Given the description of an element on the screen output the (x, y) to click on. 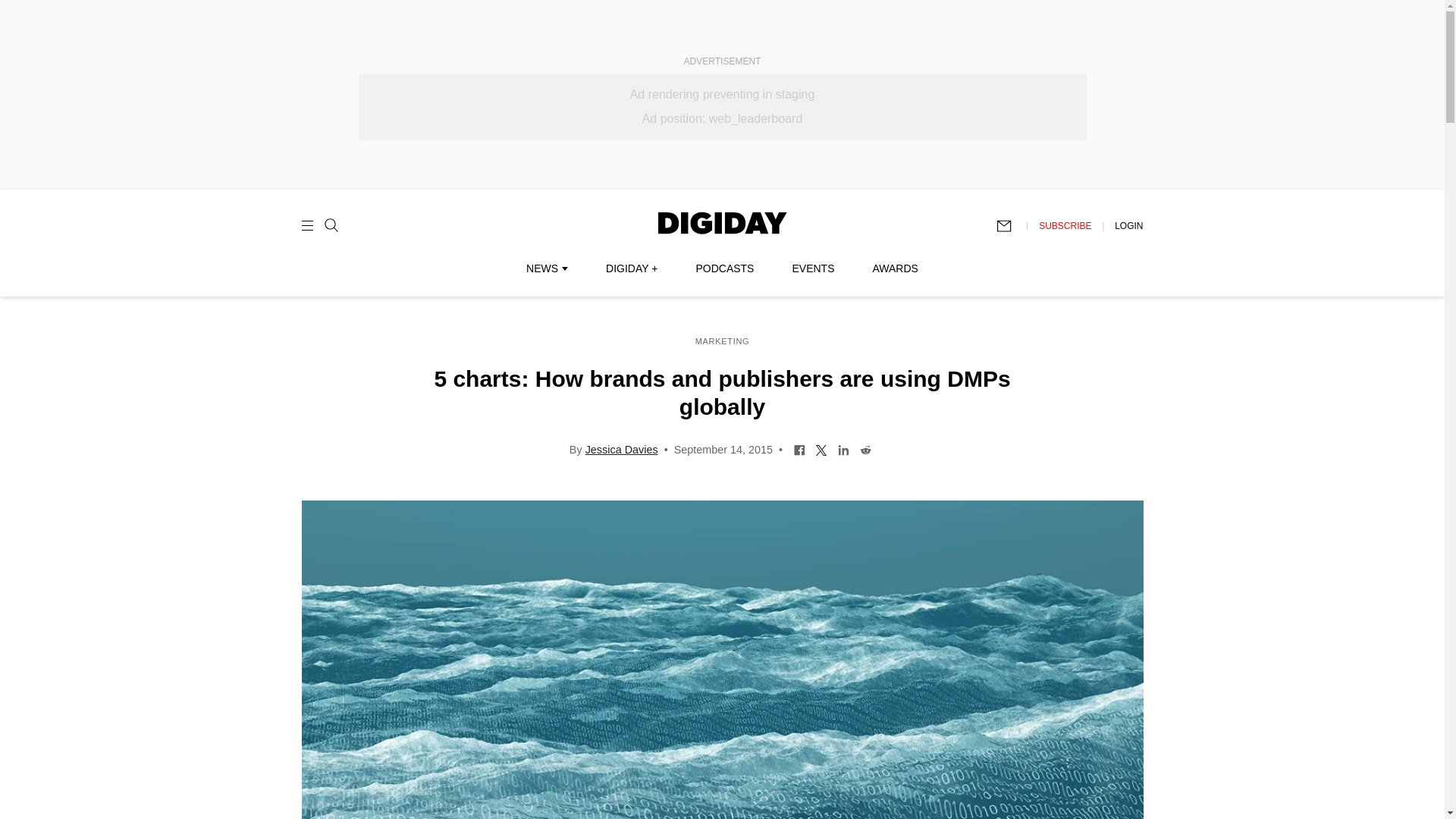
LOGIN (1128, 225)
AWARDS (894, 267)
NEWS (546, 267)
PODCASTS (725, 267)
Share on Reddit (865, 449)
Share on Twitter (821, 449)
Share on Facebook (799, 449)
Share on LinkedIn (843, 449)
Subscribe (1010, 225)
EVENTS (813, 267)
SUBSCRIBE (1064, 225)
